Given the description of an element on the screen output the (x, y) to click on. 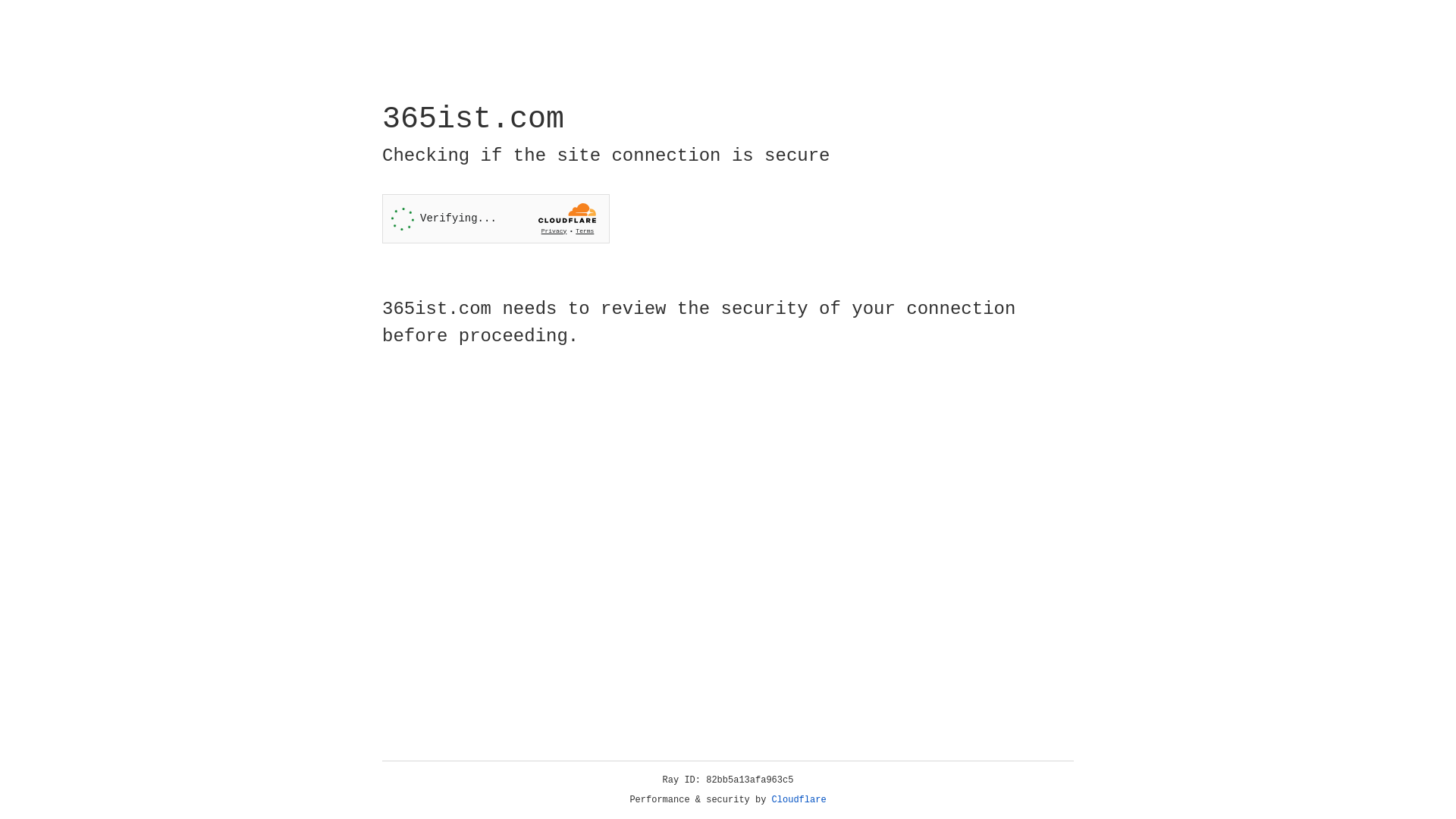
Widget containing a Cloudflare security challenge Element type: hover (495, 218)
Cloudflare Element type: text (798, 799)
